Given the description of an element on the screen output the (x, y) to click on. 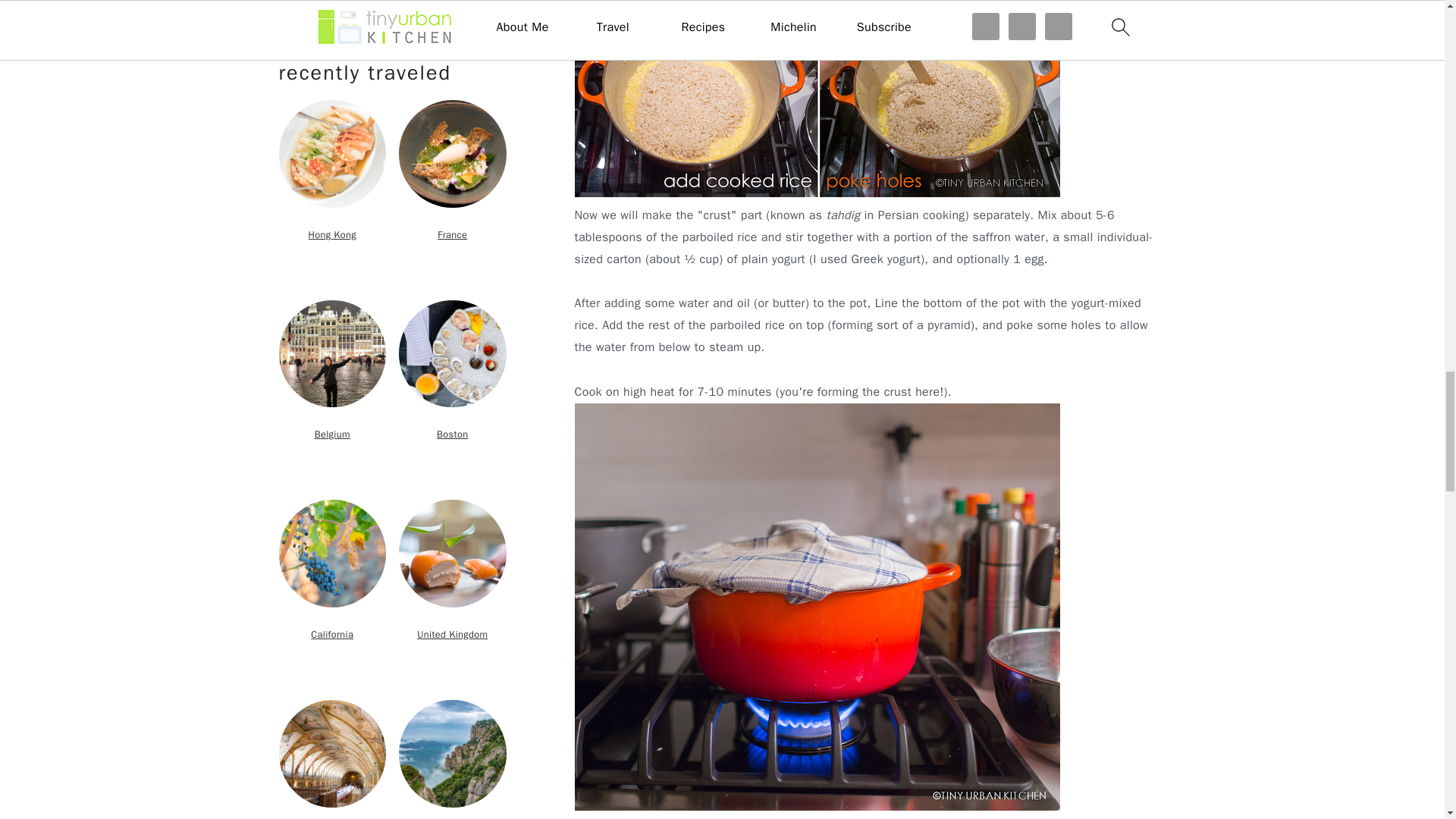
Untitled by tinyurbankitchen, on Flickr (817, 192)
Persian Saffron Rice "Cake" by tinyurbankitchen, on Flickr (817, 806)
